Given the description of an element on the screen output the (x, y) to click on. 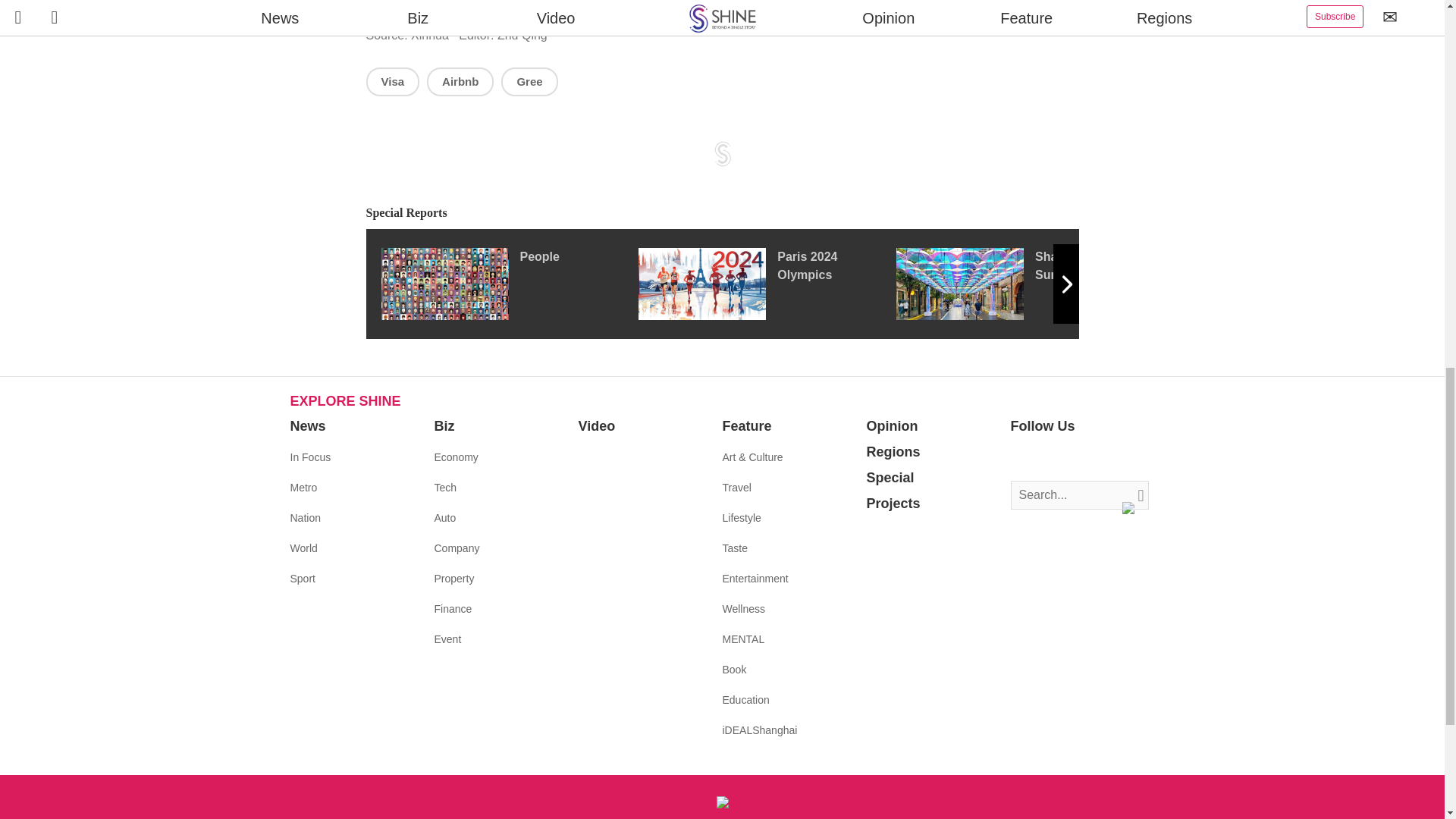
In Focus (309, 457)
Follow us on Instagram (1067, 457)
Follow us on Youtube (1090, 457)
Follow us on Facebook (1021, 457)
Shanghai Summer (1024, 283)
Gree (528, 81)
Follow us on Twitter (1044, 457)
Metro (303, 487)
Follow us on Wechat (1112, 457)
Special Reports (721, 212)
Visa (392, 81)
Nation (304, 517)
Airbnb (459, 81)
News (306, 426)
Paris 2024 Olympics (767, 283)
